Given the description of an element on the screen output the (x, y) to click on. 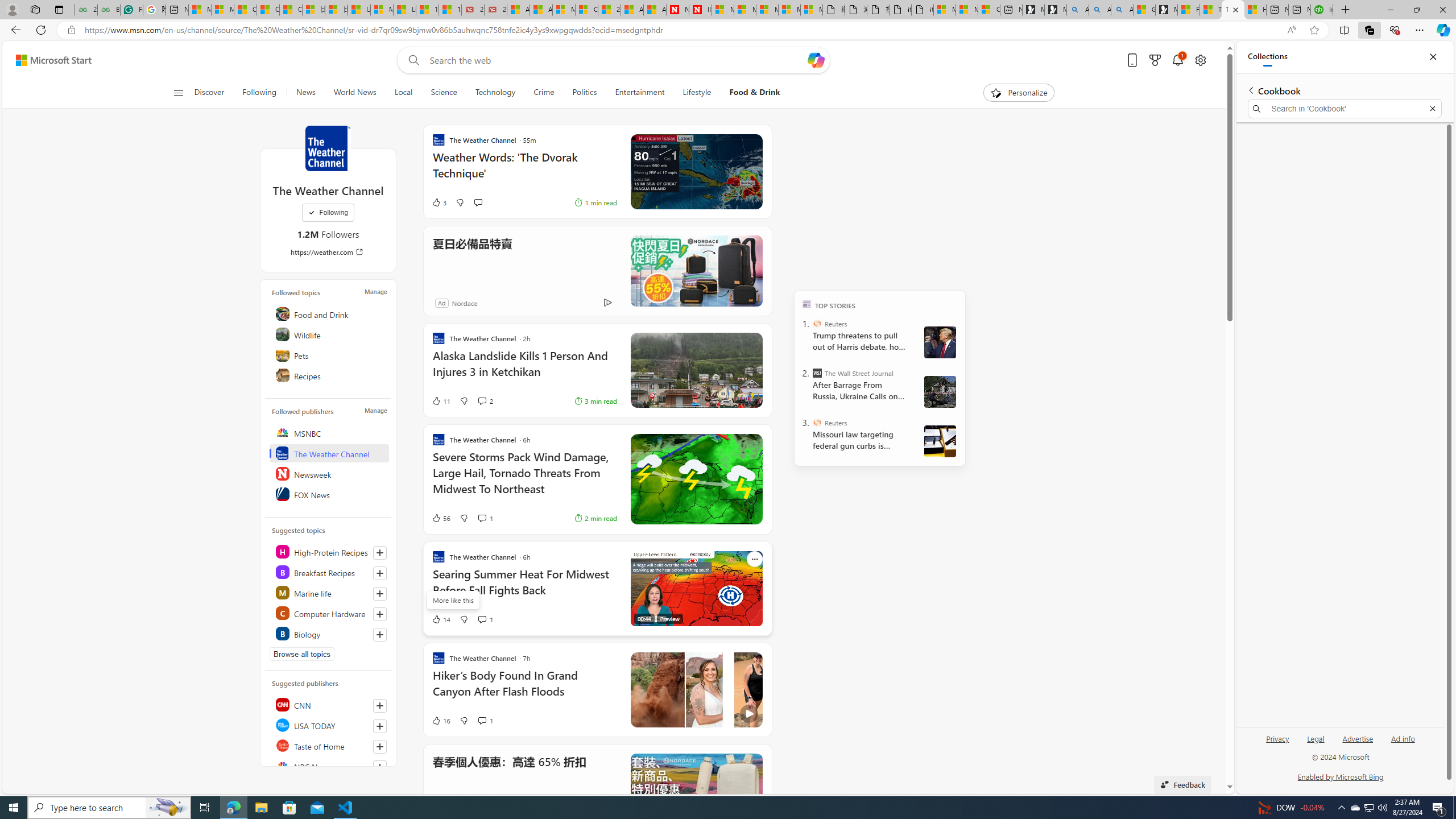
16 Like (440, 720)
Food and Drink (328, 313)
Cloud Computing Services | Microsoft Azure (586, 9)
